Given the description of an element on the screen output the (x, y) to click on. 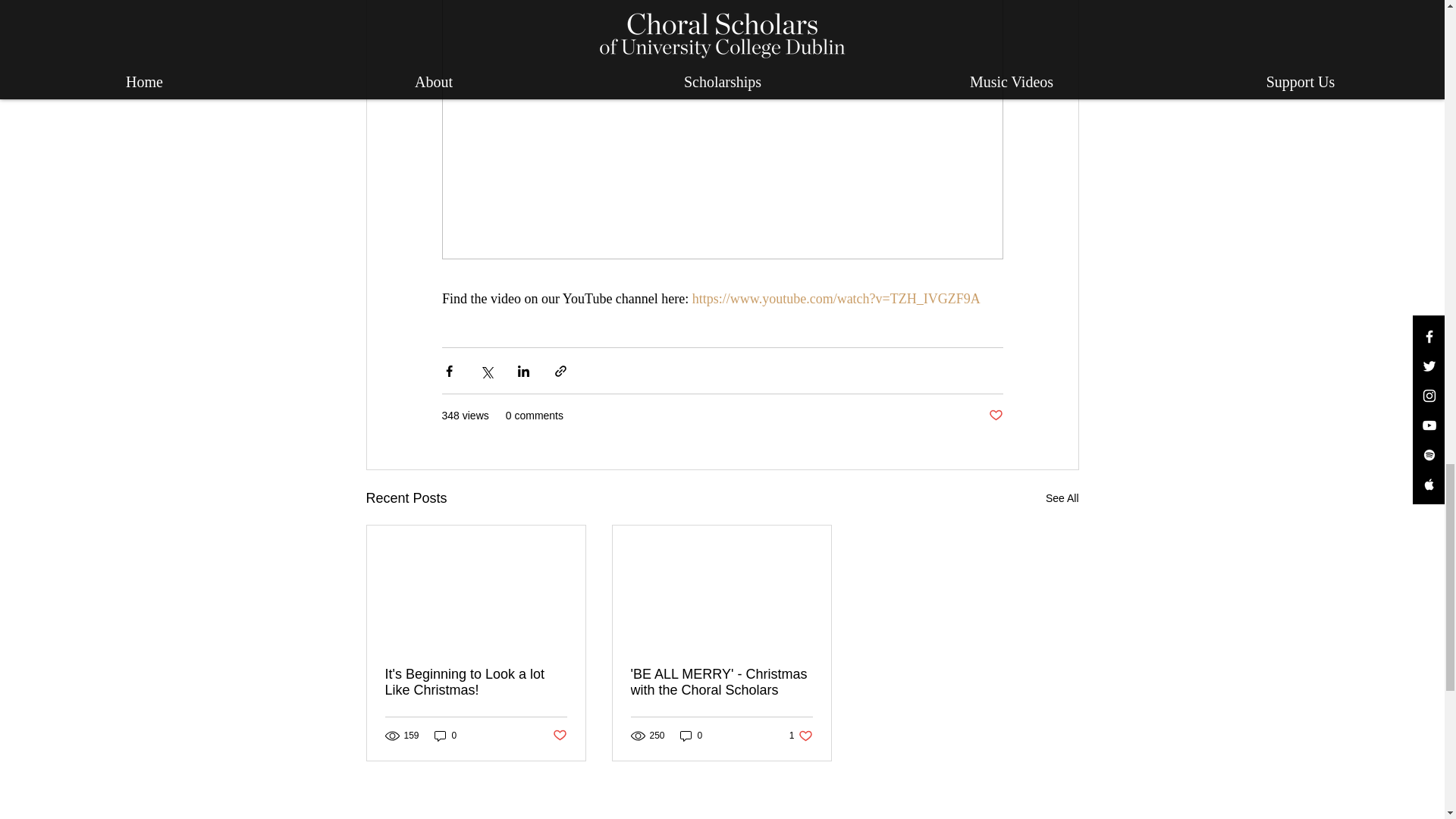
It's Beginning to Look a lot Like Christmas! (476, 682)
'BE ALL MERRY' - Christmas with the Choral Scholars (721, 682)
Post not marked as liked (558, 735)
0 (691, 735)
See All (1061, 498)
Post not marked as liked (995, 415)
0 (800, 735)
